Given the description of an element on the screen output the (x, y) to click on. 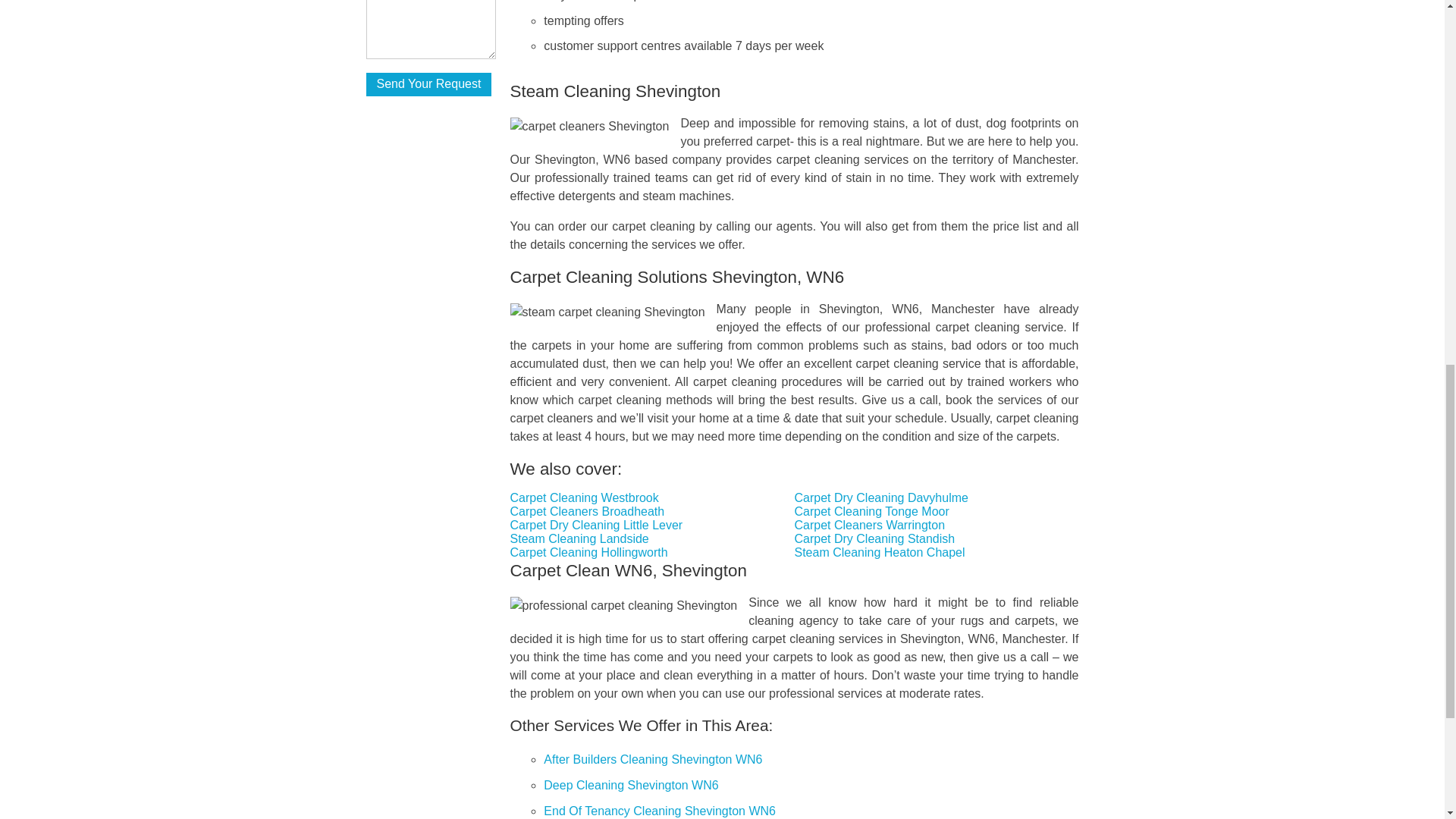
WA14 Carpet Cleaners Broadheath (588, 511)
Carpet Cleaning Tonge Moor (871, 511)
Carpet Dry Cleaning Standish (874, 538)
WN7 Steam Cleaning Landside (580, 538)
Carpet Cleaning Hollingworth (589, 552)
After Builders Cleaning Shevington WN6 (652, 758)
Steam Cleaning Heaton Chapel (879, 552)
WA5 Carpet Cleaning Westbrook (585, 497)
Carpet Cleaning Westbrook (585, 497)
Steam Cleaning Landside (580, 538)
Send Your Request (428, 84)
Carpet Cleaners Broadheath (588, 511)
SK14 Carpet Cleaning Hollingworth (589, 552)
Carpet Dry Cleaning Davyhulme (881, 497)
Carpet Dry Cleaning Little Lever (596, 524)
